Given the description of an element on the screen output the (x, y) to click on. 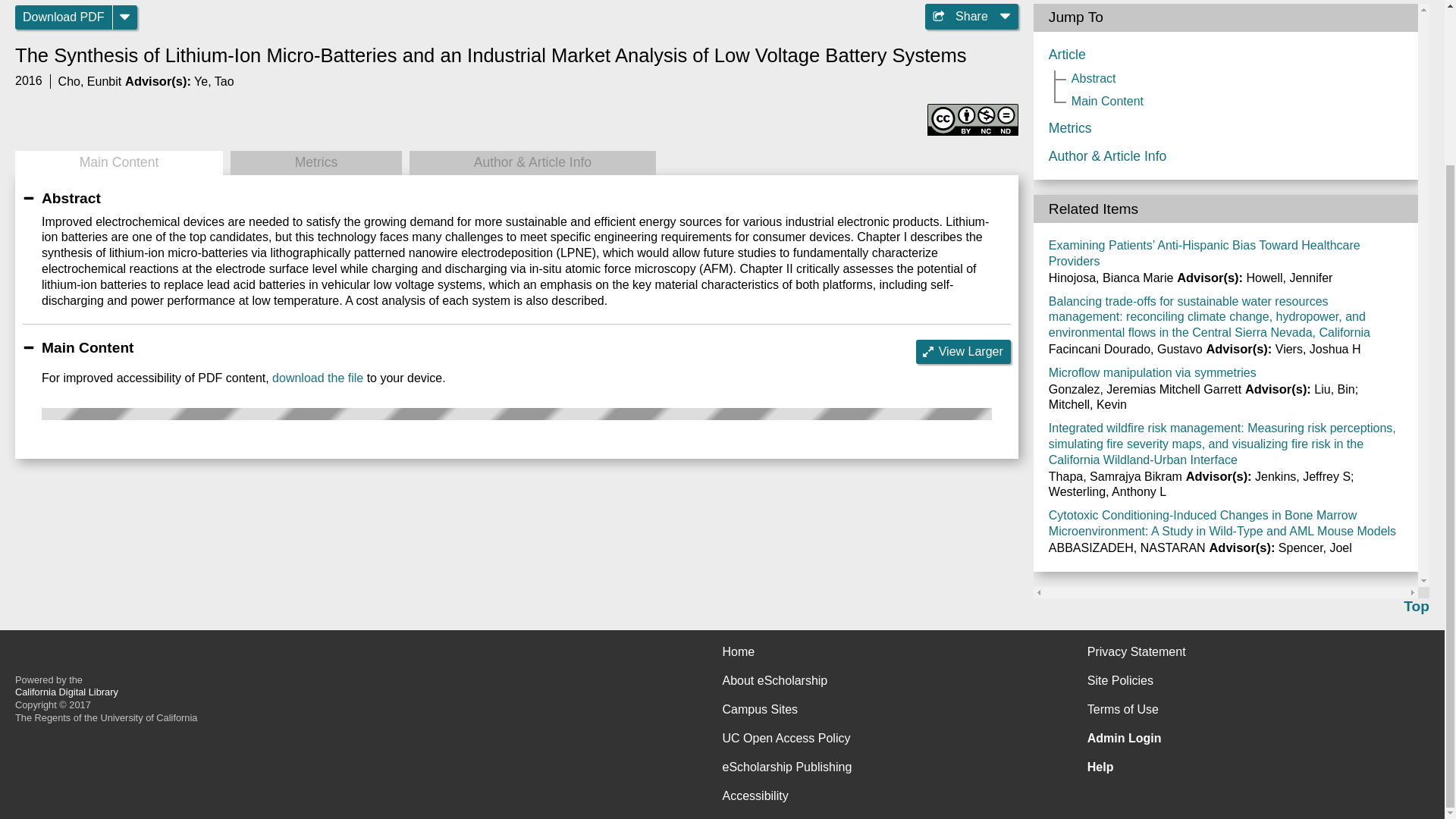
Cho, Eunbit (90, 81)
Ye, Tao (213, 81)
View Larger (962, 351)
Download PDF (63, 16)
download the file (317, 377)
Main Content (118, 162)
Metrics (315, 162)
